Given the description of an element on the screen output the (x, y) to click on. 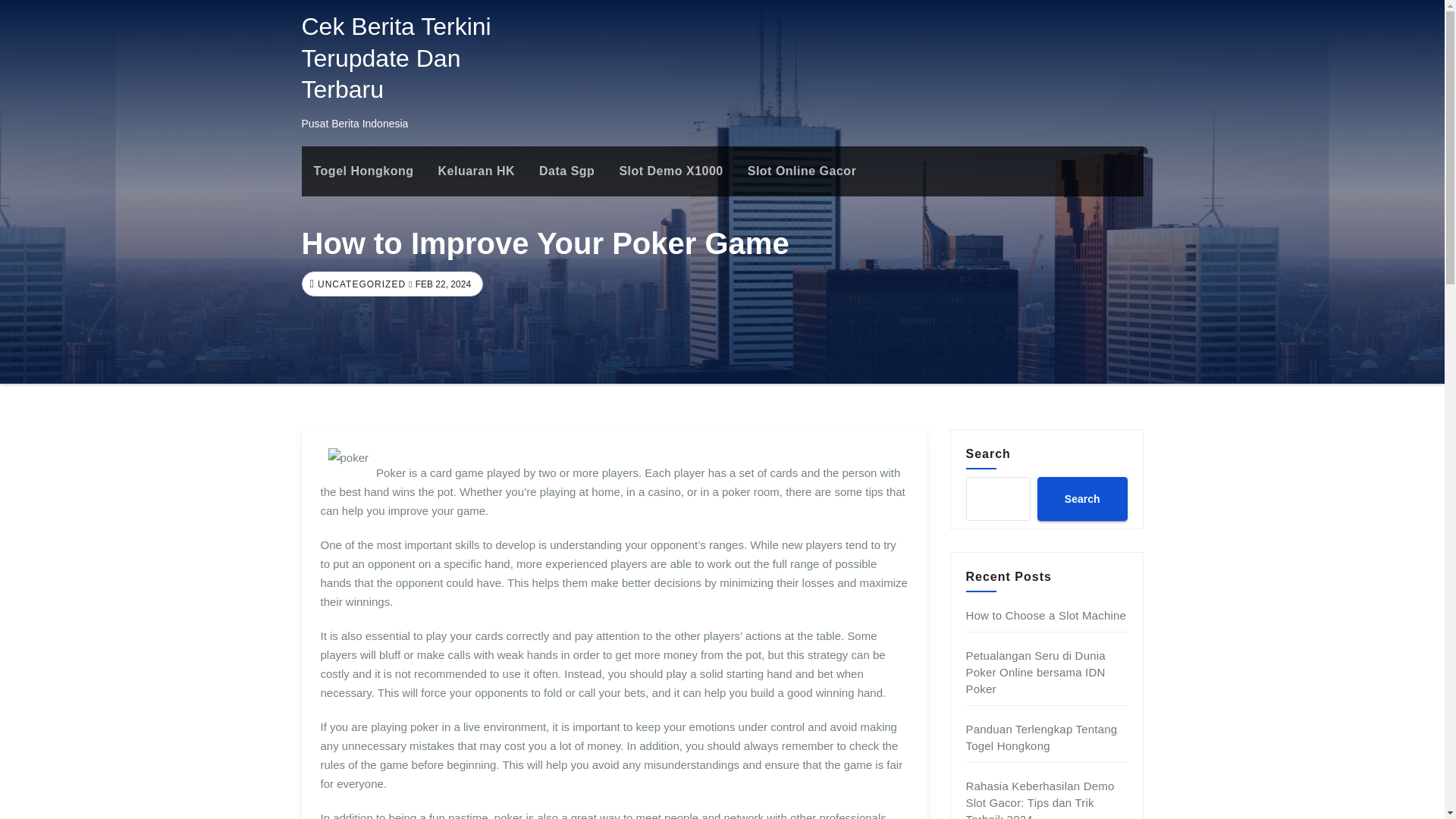
data sgp (567, 171)
Slot Online Gacor (802, 171)
togel hongkong (363, 171)
Search (1081, 498)
How to Choose a Slot Machine (1046, 615)
Togel Hongkong (363, 171)
UNCATEGORIZED (360, 284)
slot demo x1000 (671, 171)
slot online gacor (802, 171)
Slot Demo X1000 (671, 171)
Cek Berita Terkini Terupdate Dan Terbaru (396, 58)
Panduan Terlengkap Tentang Togel Hongkong (1042, 737)
Petualangan Seru di Dunia Poker Online bersama IDN Poker (1035, 672)
Keluaran HK (476, 171)
Keluaran HK (476, 171)
